Given the description of an element on the screen output the (x, y) to click on. 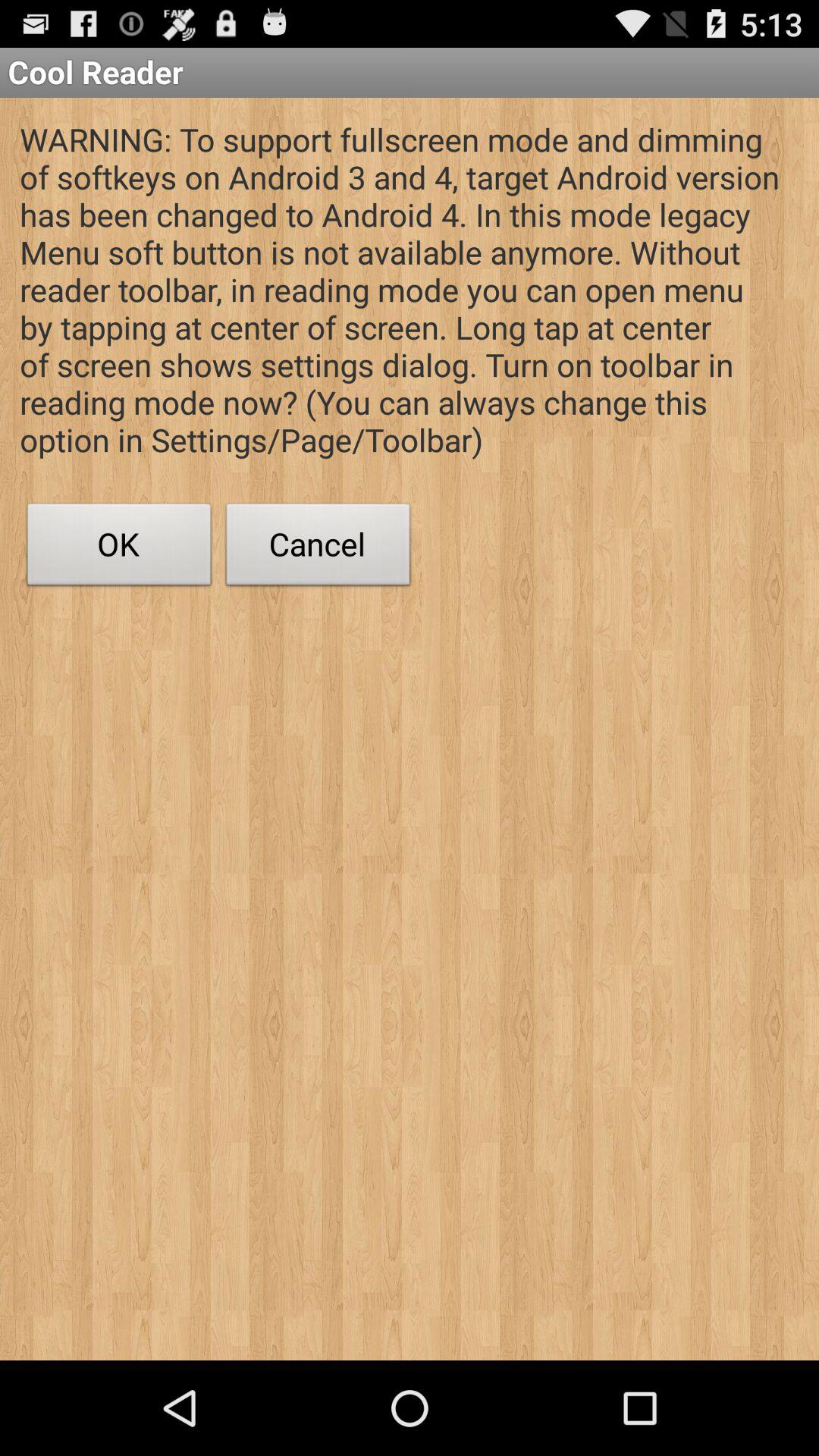
jump to the cancel item (318, 548)
